Given the description of an element on the screen output the (x, y) to click on. 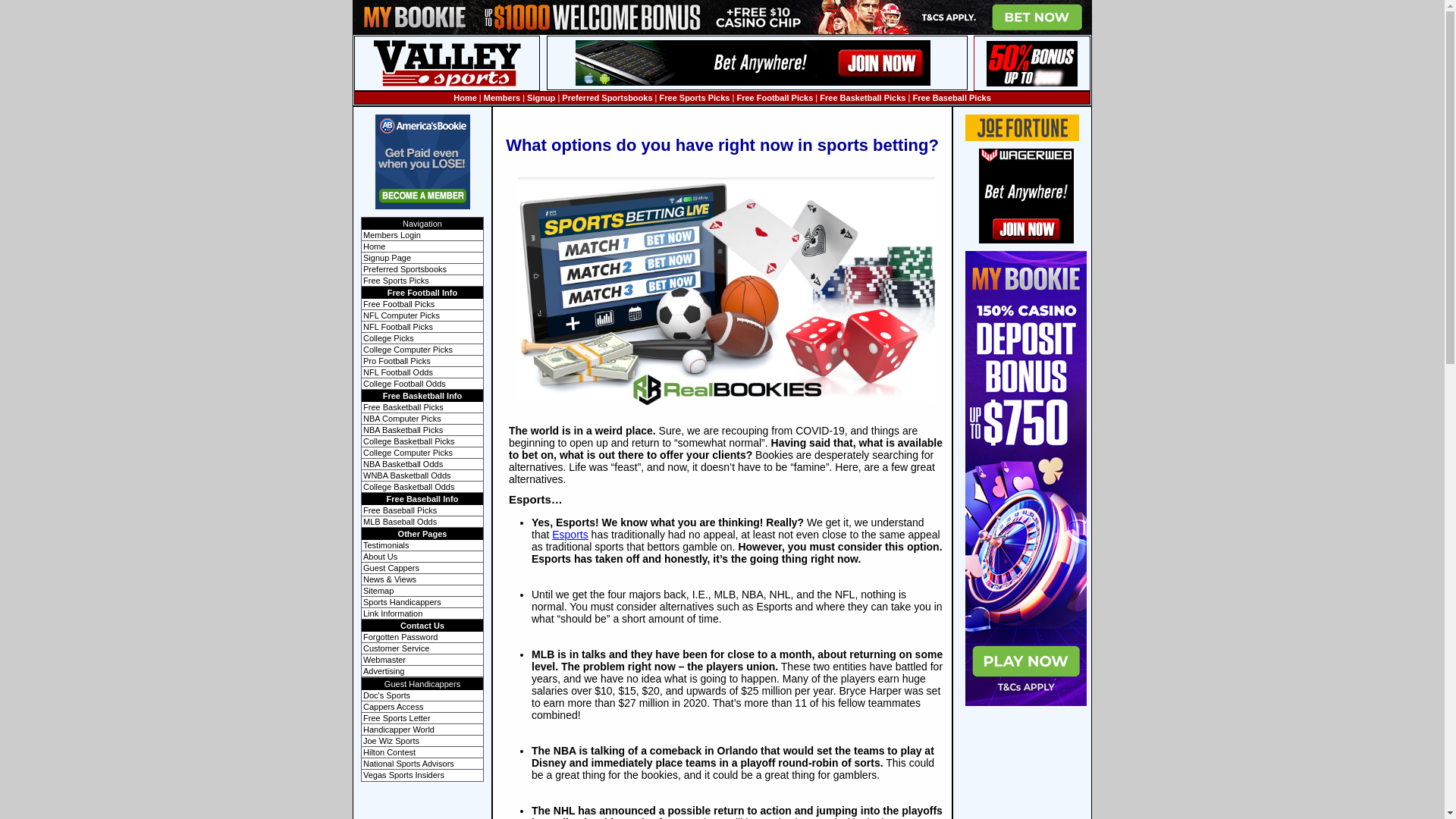
NFL Football Odds (397, 371)
WNBA Basketball Odds (406, 474)
College Football Odds (403, 383)
Free Basketball Picks (862, 97)
Free Sports Picks (395, 280)
Free Basketball Picks (403, 406)
College Computer Picks (407, 452)
Free Sports Picks (694, 97)
Signup Page (386, 257)
Free Baseball Picks (951, 97)
